Given the description of an element on the screen output the (x, y) to click on. 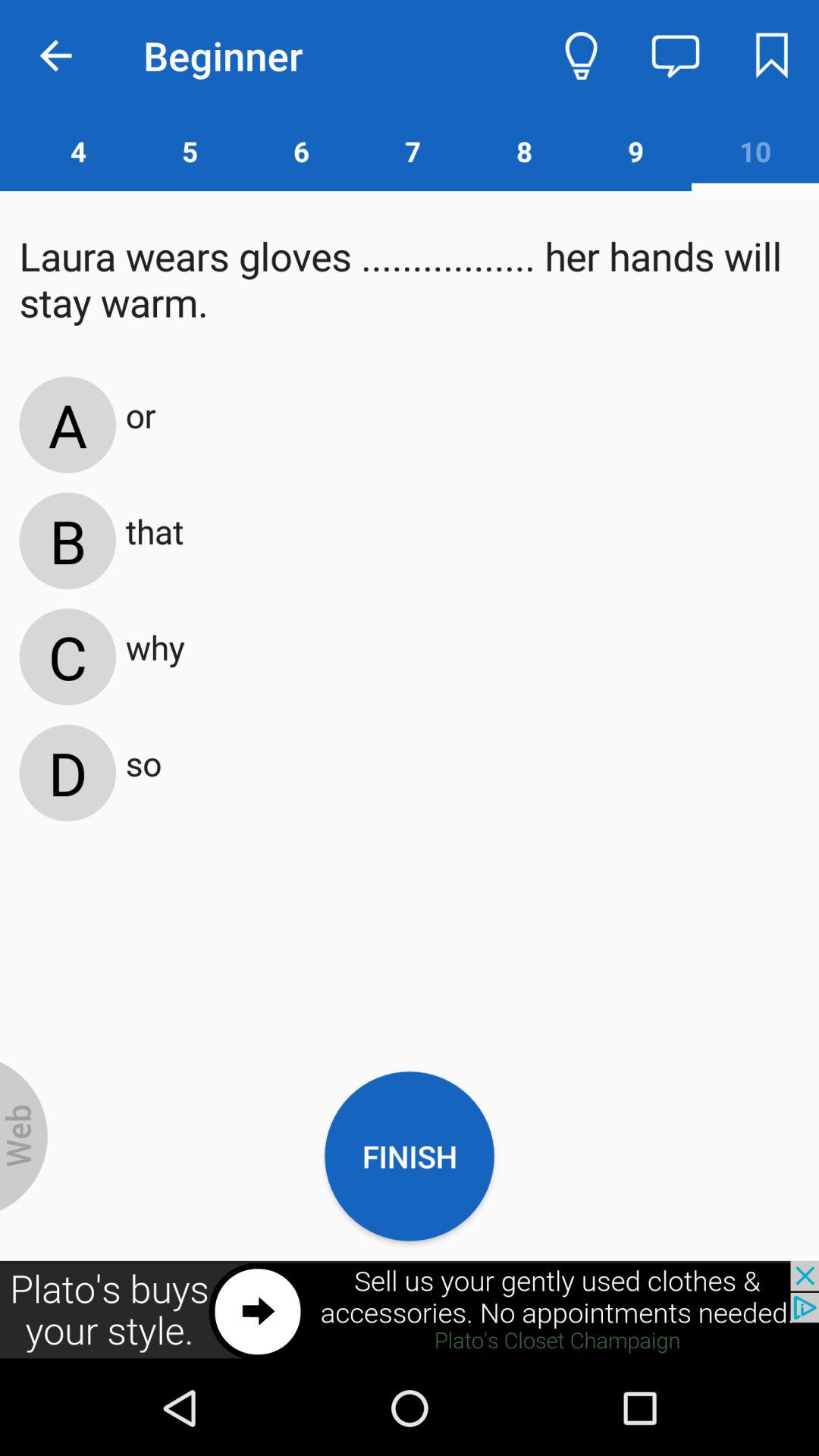
open web browser (23, 1135)
